Given the description of an element on the screen output the (x, y) to click on. 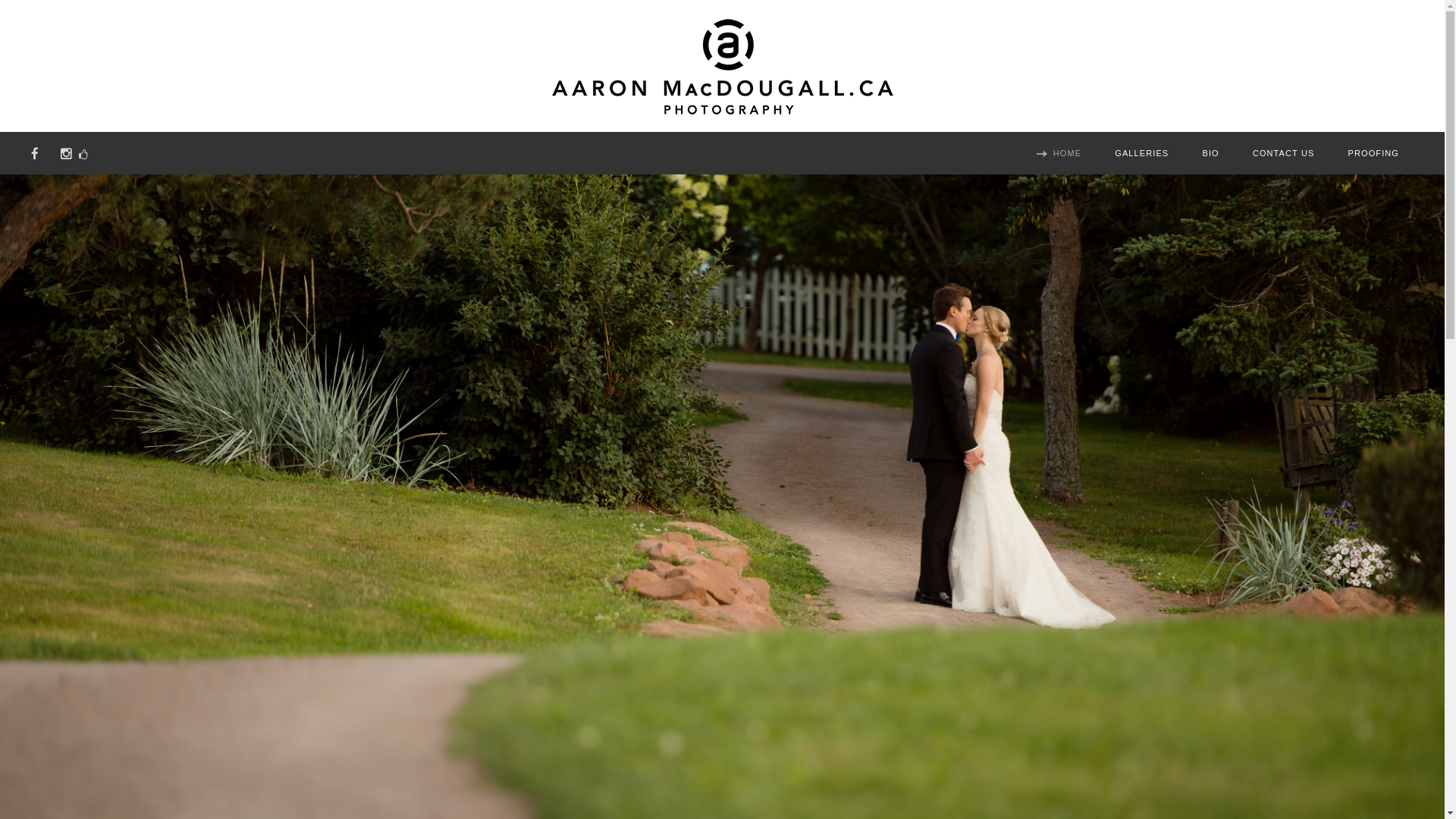
BIO Element type: text (1211, 154)
HOME Element type: text (1069, 154)
GALLERIES Element type: text (1142, 154)
PROOFING Element type: text (1373, 154)
CONTACT US Element type: text (1285, 154)
